Given the description of an element on the screen output the (x, y) to click on. 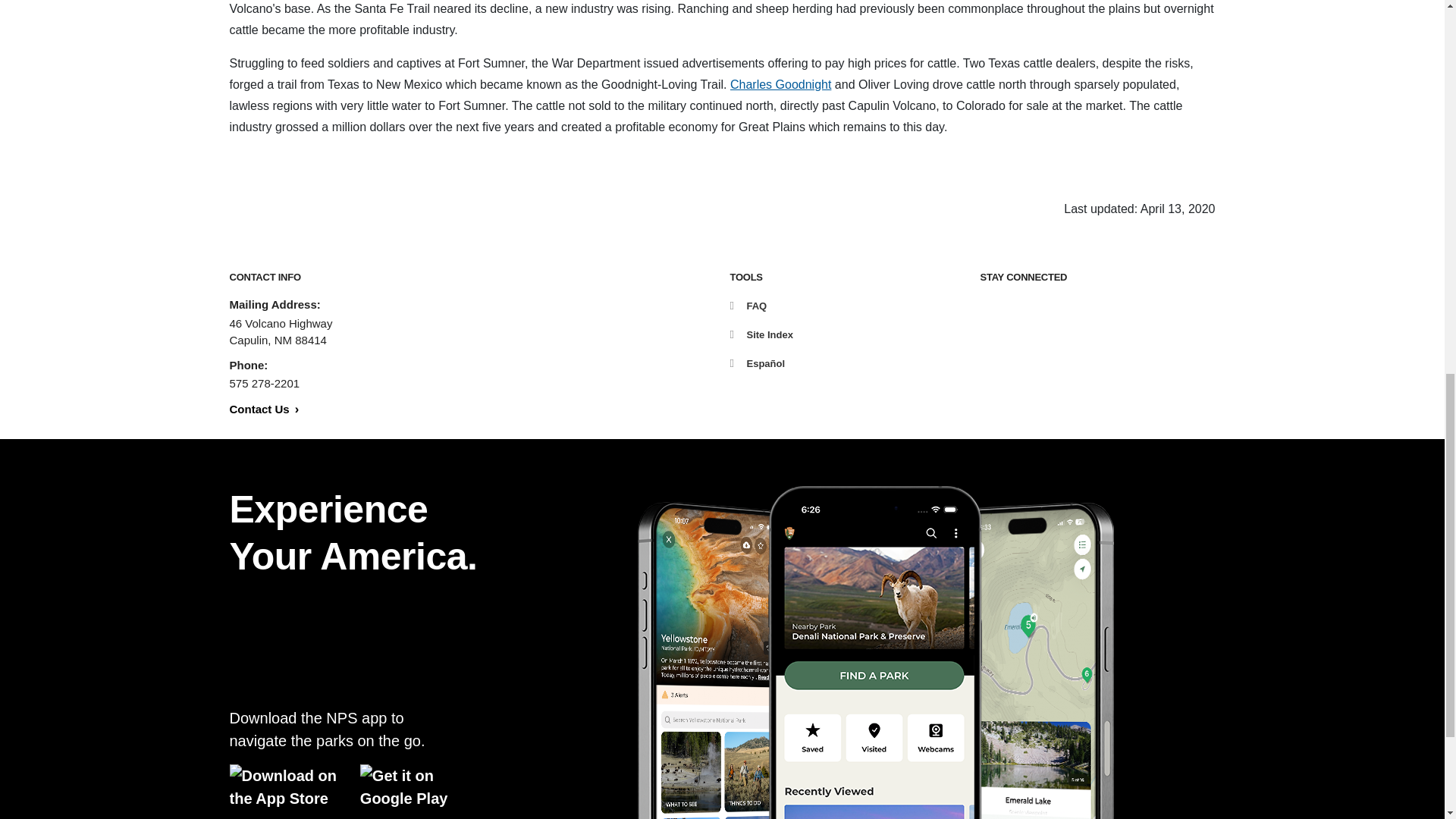
Site Index (760, 334)
Contact Us (263, 408)
FAQ (748, 306)
Charles Goodnight (780, 83)
